Given the description of an element on the screen output the (x, y) to click on. 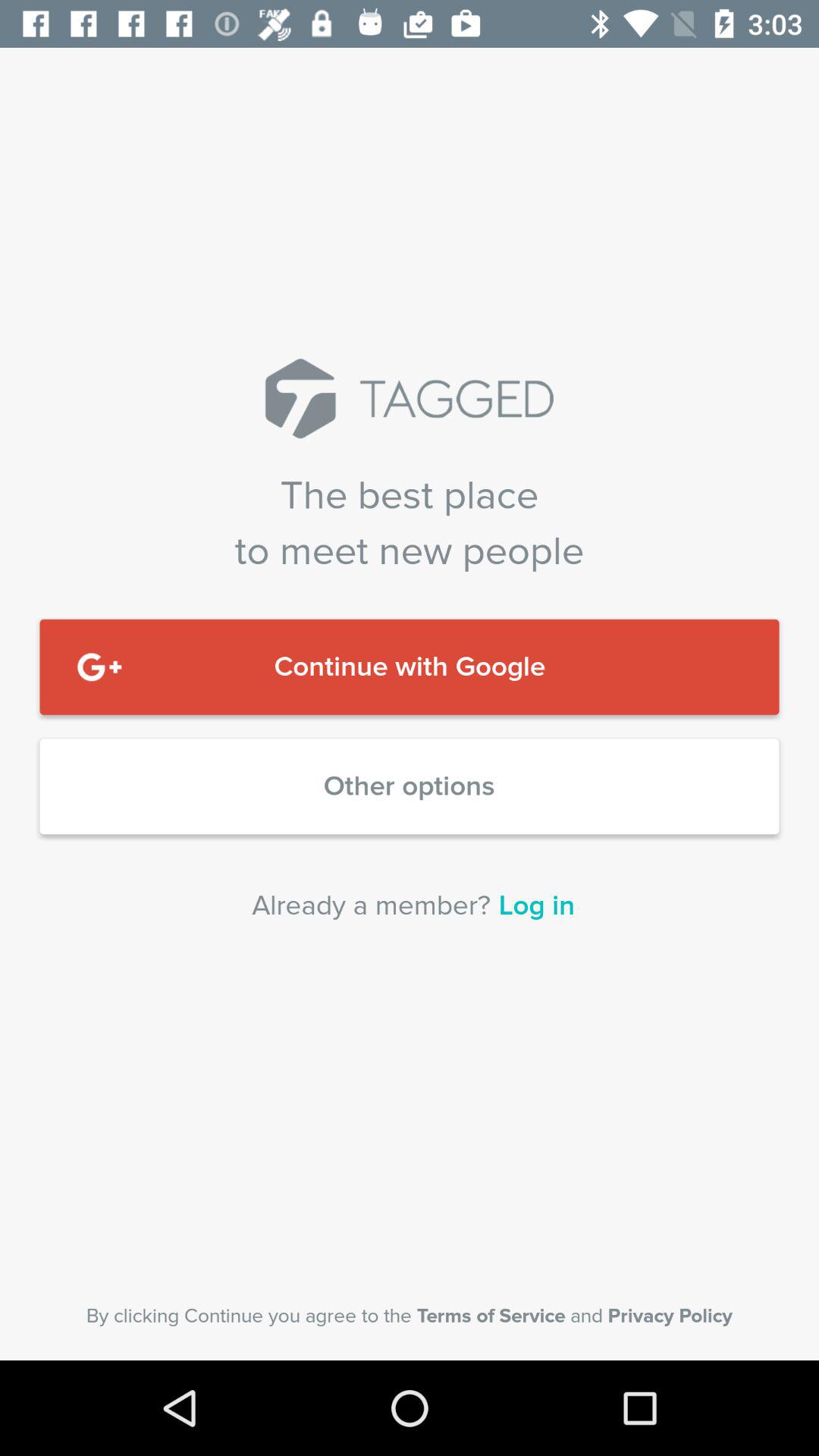
choose the item below the already a member? icon (409, 1316)
